Given the description of an element on the screen output the (x, y) to click on. 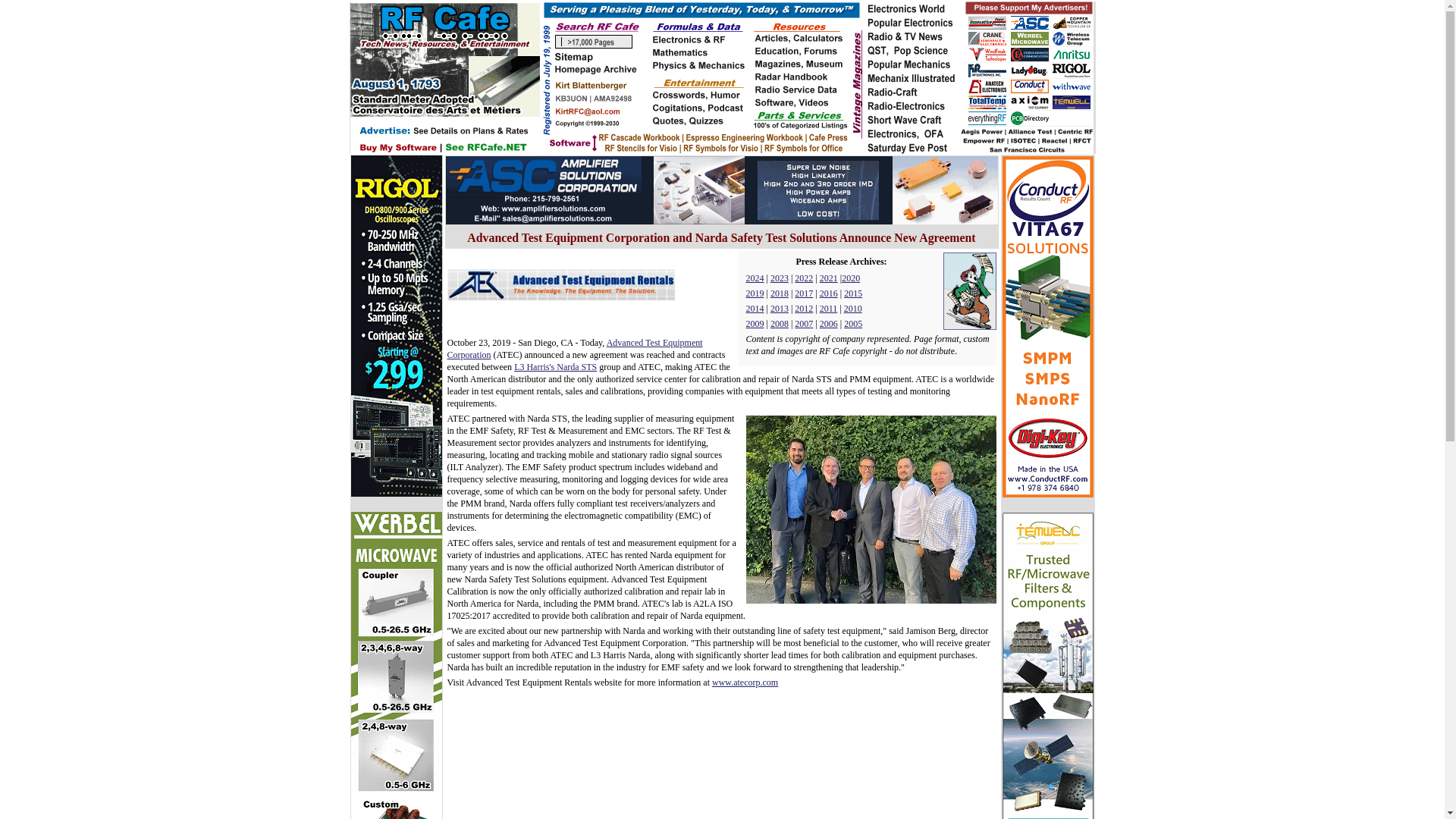
2021 (828, 277)
2006 (828, 323)
Advanced Test Equipment Corporation (574, 348)
L3 Harris's Narda STS (554, 366)
2005 (852, 323)
2007 (803, 323)
2016 (828, 293)
2020 (850, 277)
2011 (828, 308)
2017 (803, 293)
2018 (779, 293)
2023 (779, 277)
2024 (754, 277)
2013 (779, 308)
2015 (852, 293)
